Given the description of an element on the screen output the (x, y) to click on. 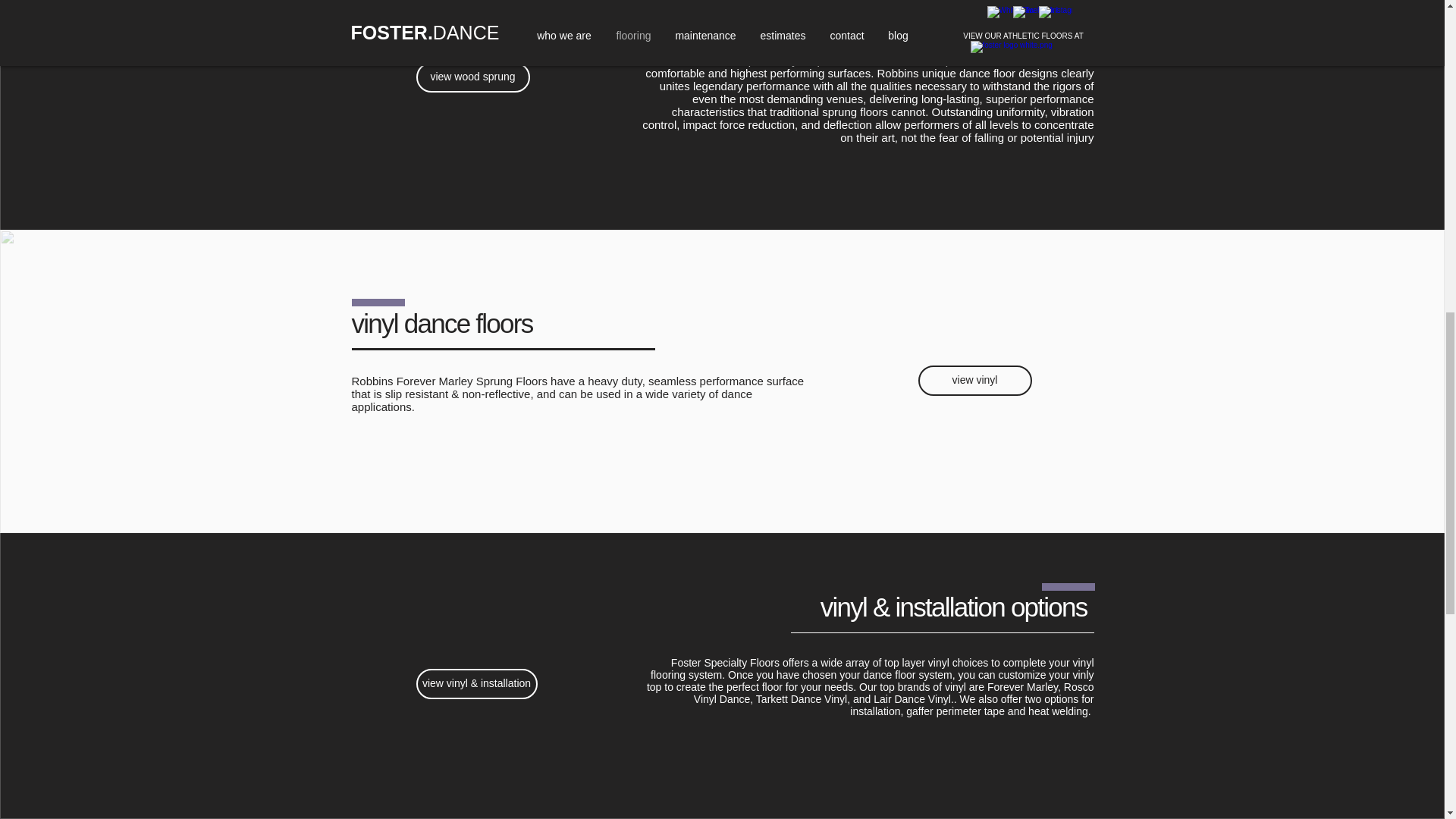
view wood sprung (471, 77)
perimeter tape (970, 711)
Forever Marley, (1024, 686)
, and Lair Dance Vinyl. (900, 698)
Tarkett Dance Vinyl (801, 698)
view vinyl (973, 380)
gaffer (919, 711)
 Rosco Vinyl Dance (894, 692)
heat welding (1057, 711)
